Given the description of an element on the screen output the (x, y) to click on. 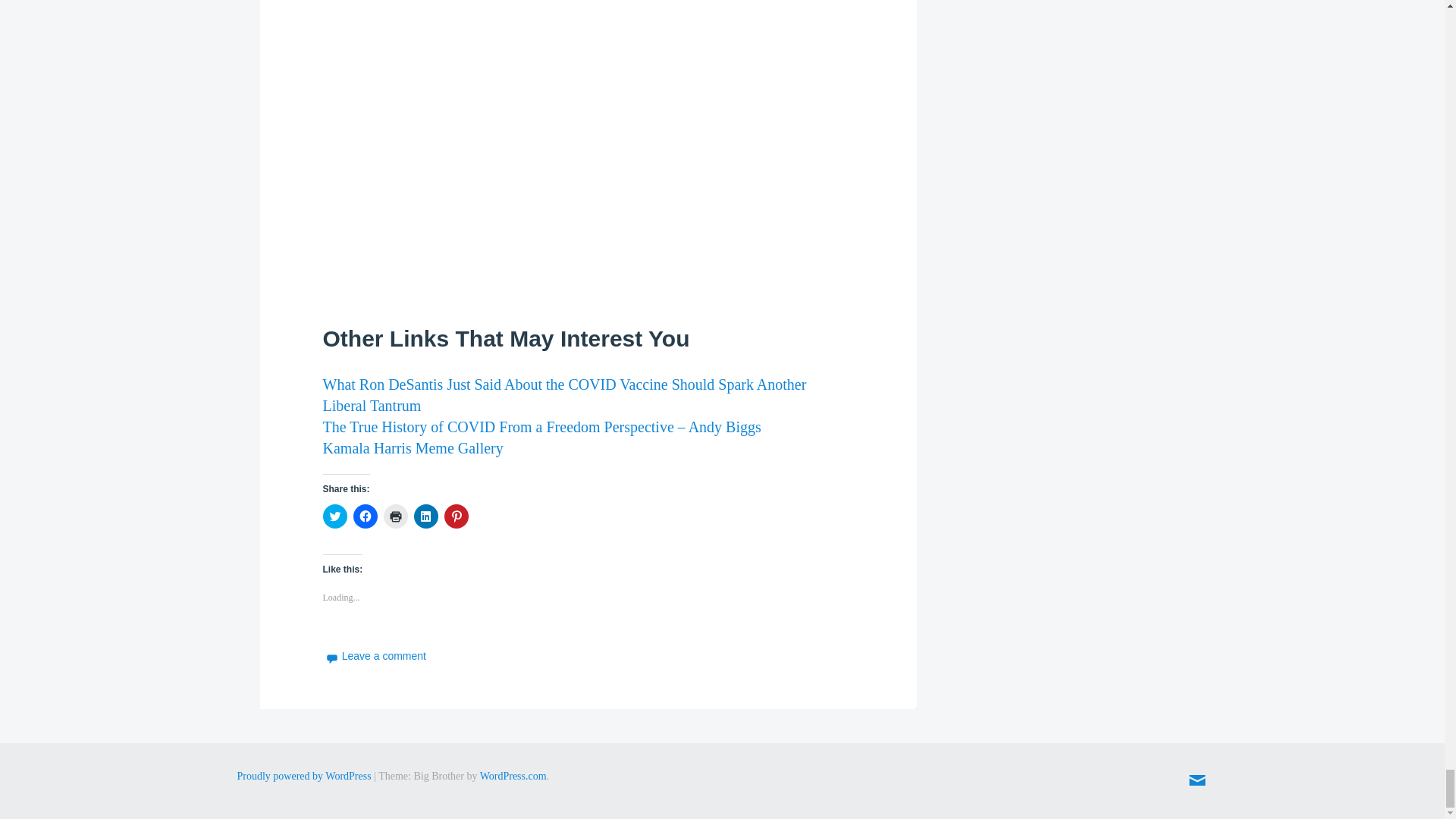
Click to share on Pinterest (456, 516)
Click to share on Twitter (335, 516)
Click to print (395, 516)
Click to share on Facebook (365, 516)
Click to share on LinkedIn (425, 516)
